Given the description of an element on the screen output the (x, y) to click on. 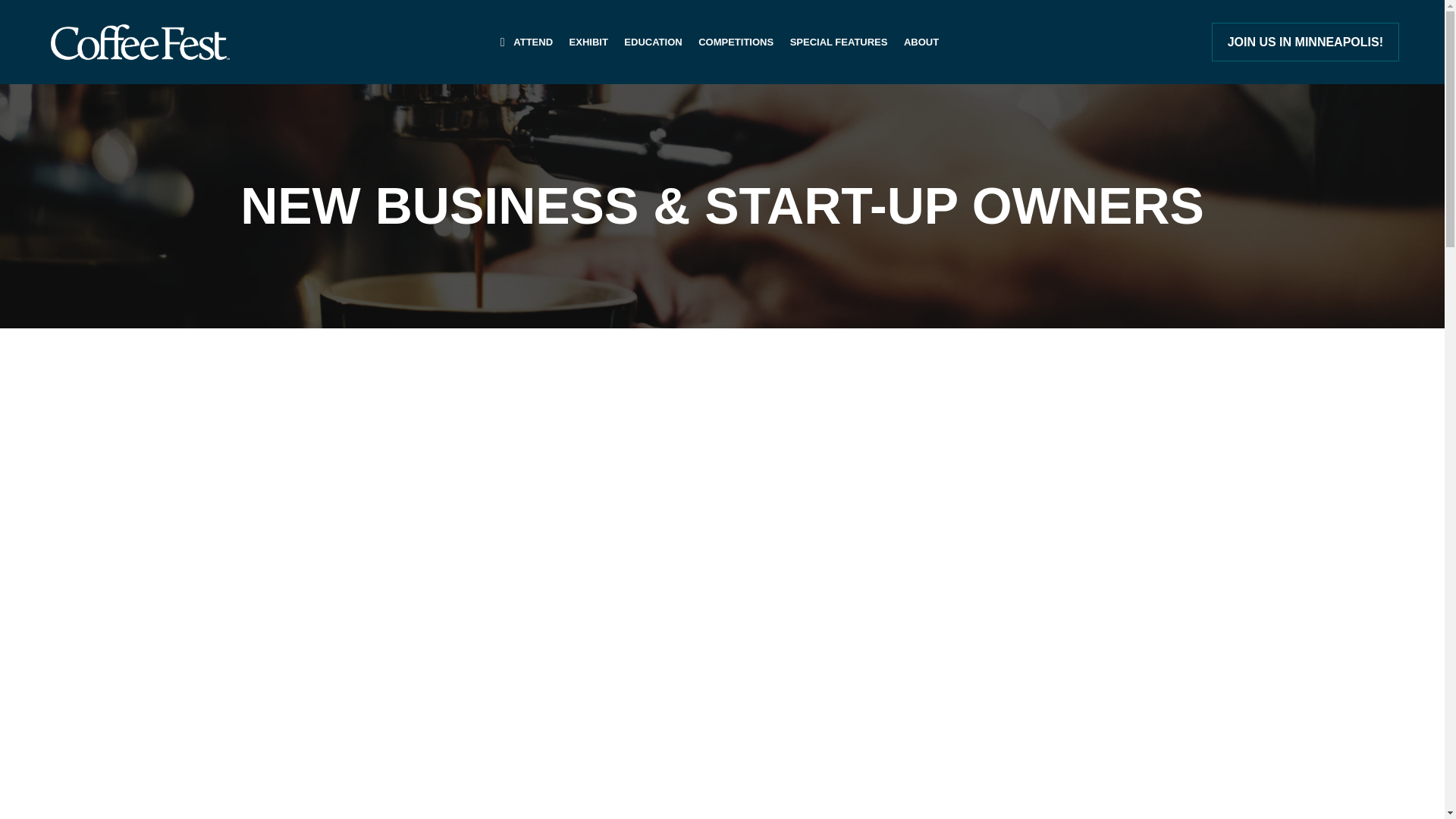
EDUCATION (652, 42)
COMPETITIONS (735, 42)
ATTEND (532, 42)
EXHIBIT (587, 42)
ABOUT (921, 42)
EDUCATION (652, 42)
COMPETITIONS (735, 42)
ATTEND (532, 42)
EXHIBIT (587, 42)
SPECIAL FEATURES (838, 42)
